Given the description of an element on the screen output the (x, y) to click on. 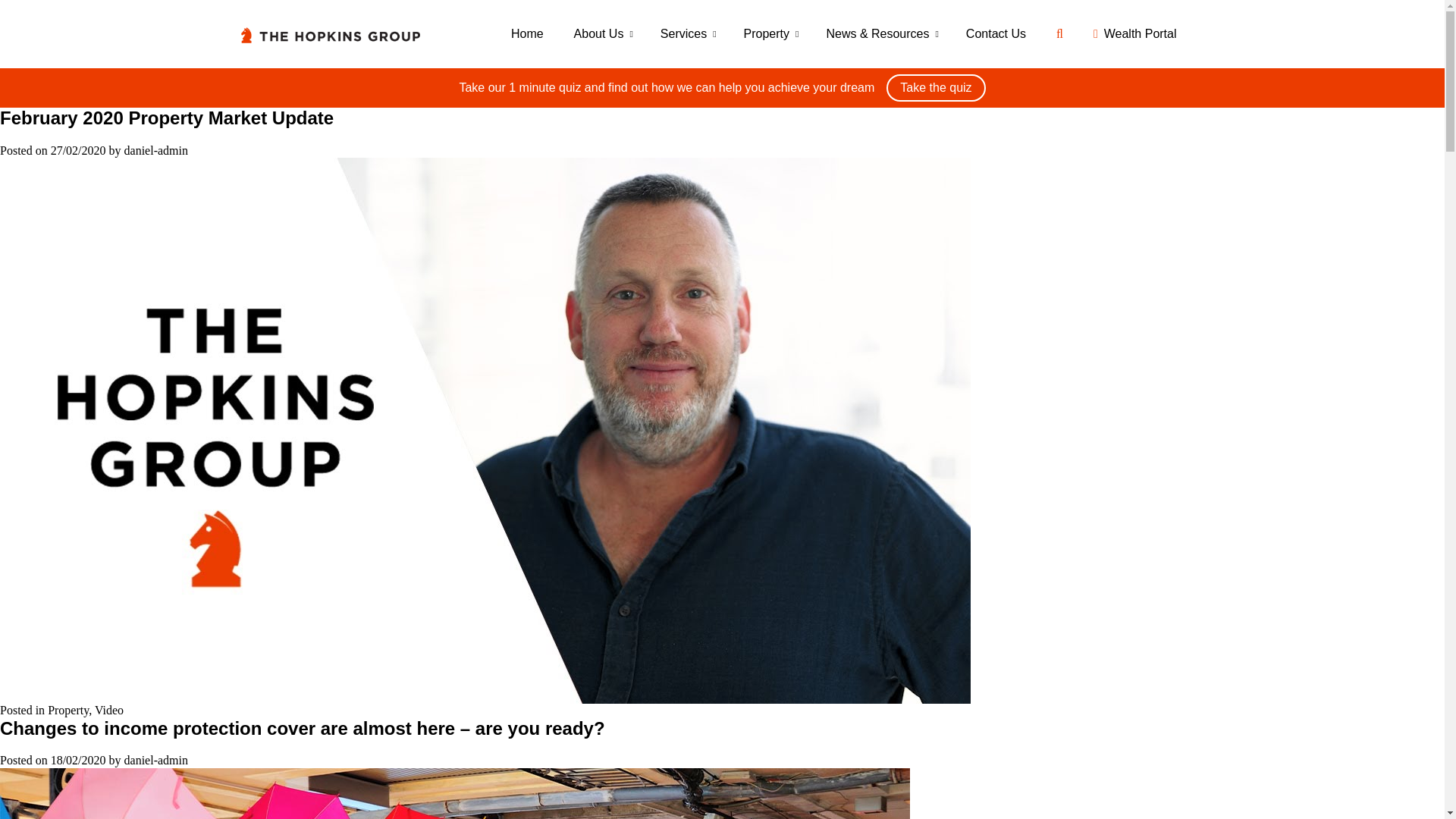
Services (687, 33)
Dreams Help People Thrive (721, 87)
Property (769, 33)
Home (527, 33)
About Us (602, 33)
Wealth Portal (1135, 33)
Contact Us (995, 33)
